Given the description of an element on the screen output the (x, y) to click on. 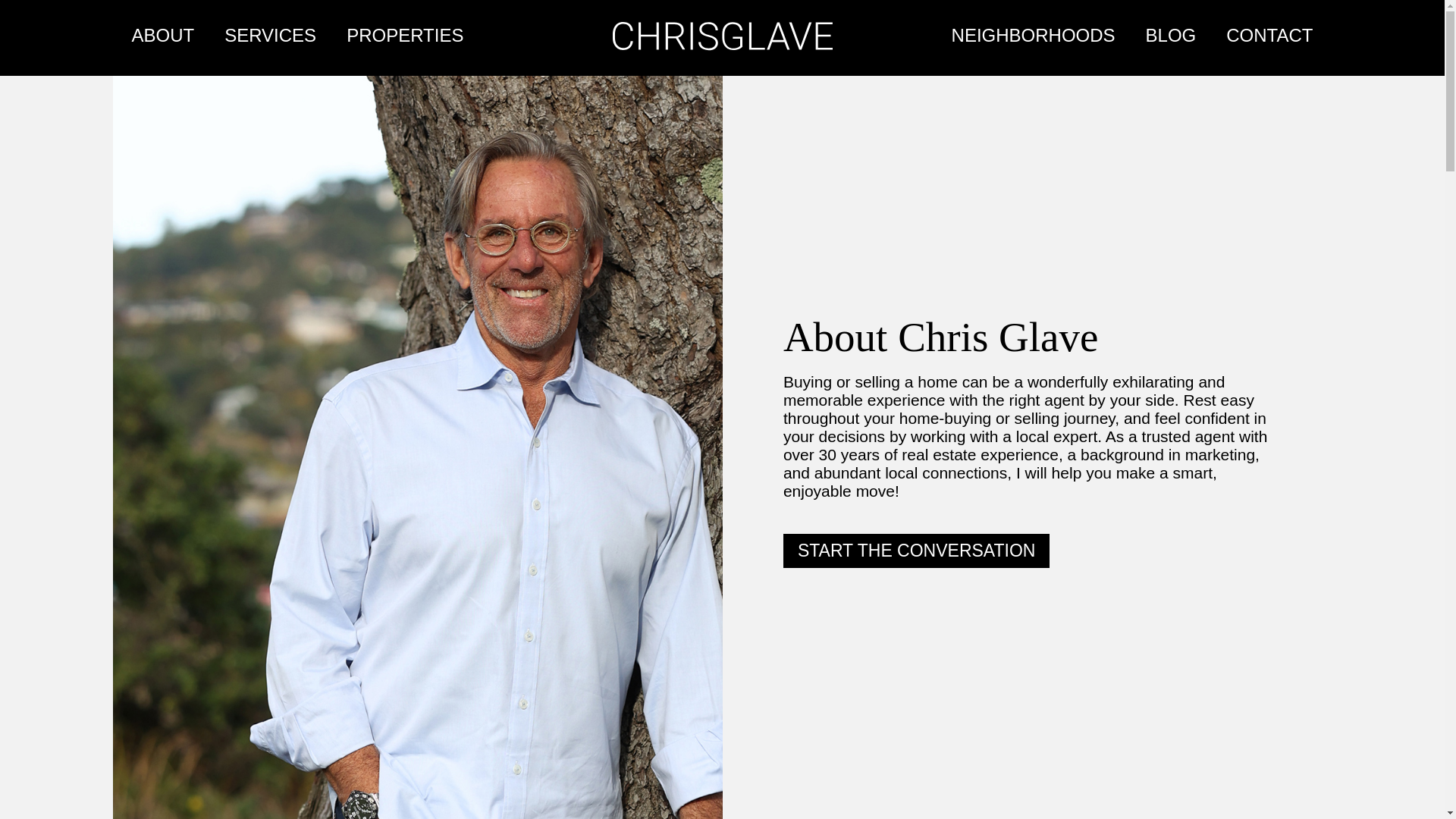
BLOG (1171, 35)
Chris Glave (722, 35)
NEIGHBORHOODS (1033, 35)
CONTACT (1269, 35)
START THE CONVERSATION (916, 550)
SERVICES (270, 35)
PROPERTIES (405, 35)
ABOUT (162, 35)
